Given the description of an element on the screen output the (x, y) to click on. 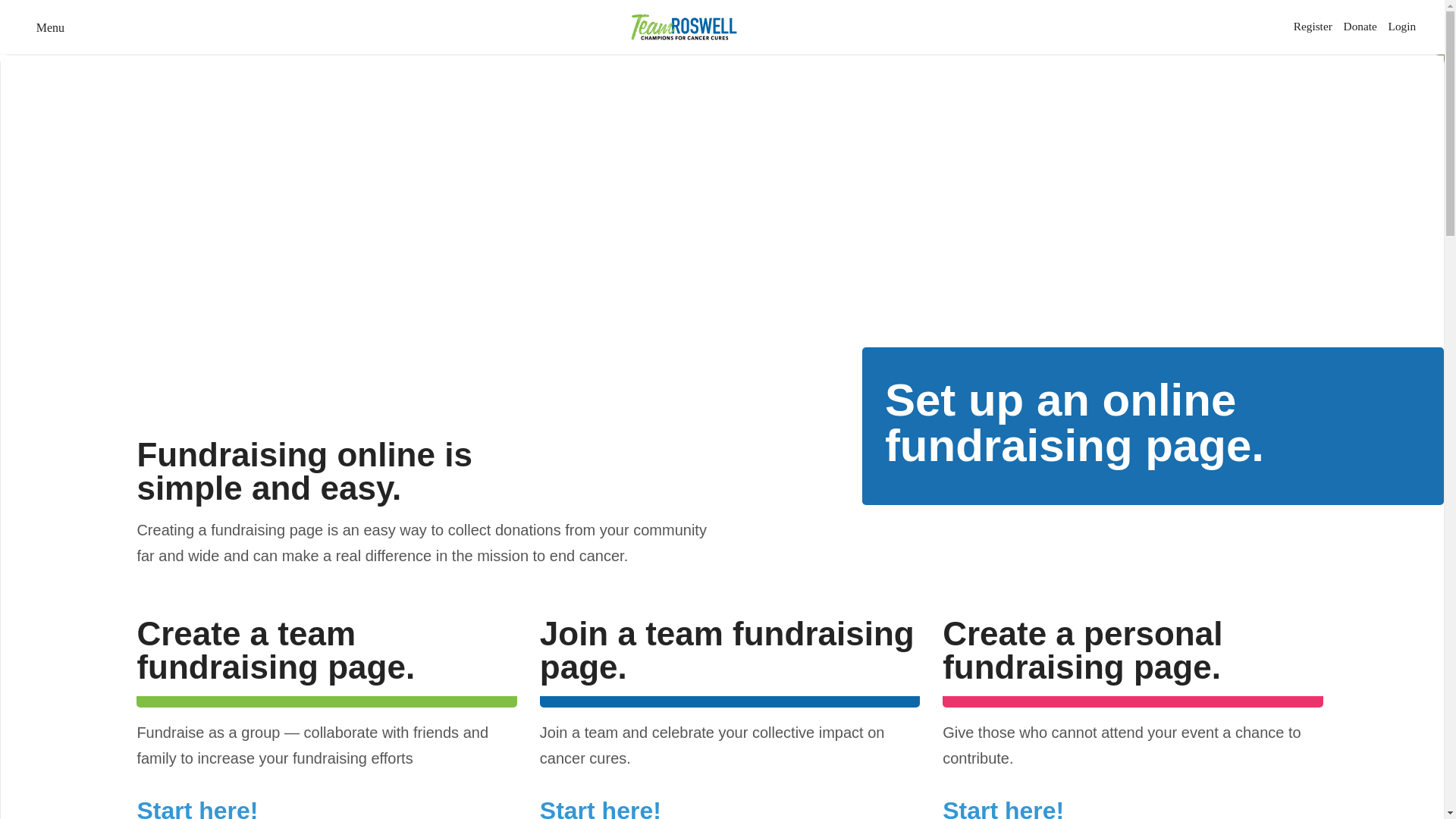
Start here! (1003, 807)
Login (1402, 25)
Start here! (600, 807)
Register (1313, 25)
Donate (1360, 25)
Start here! (196, 807)
Menu (47, 27)
